Given the description of an element on the screen output the (x, y) to click on. 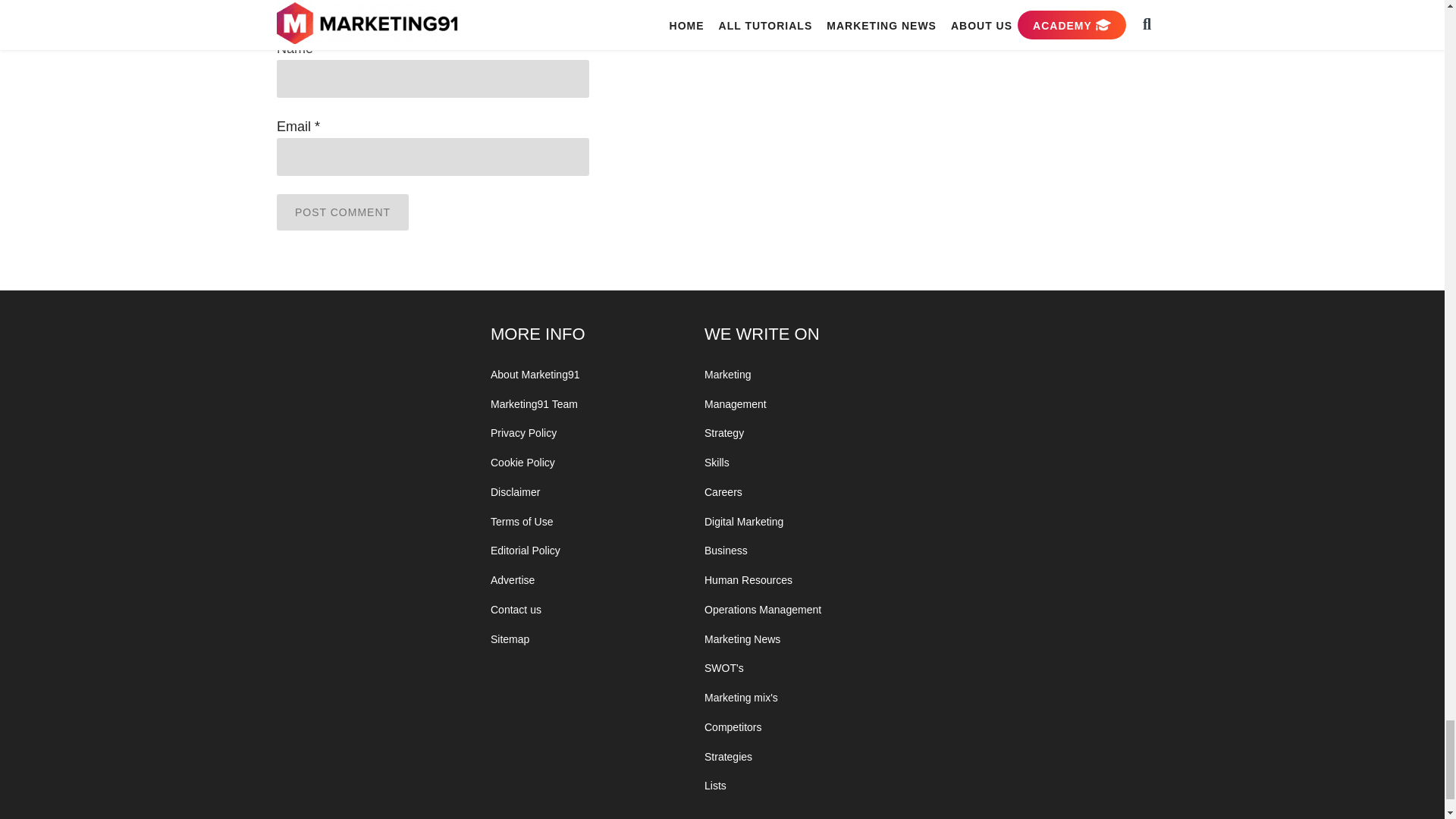
Post Comment (342, 212)
